Given the description of an element on the screen output the (x, y) to click on. 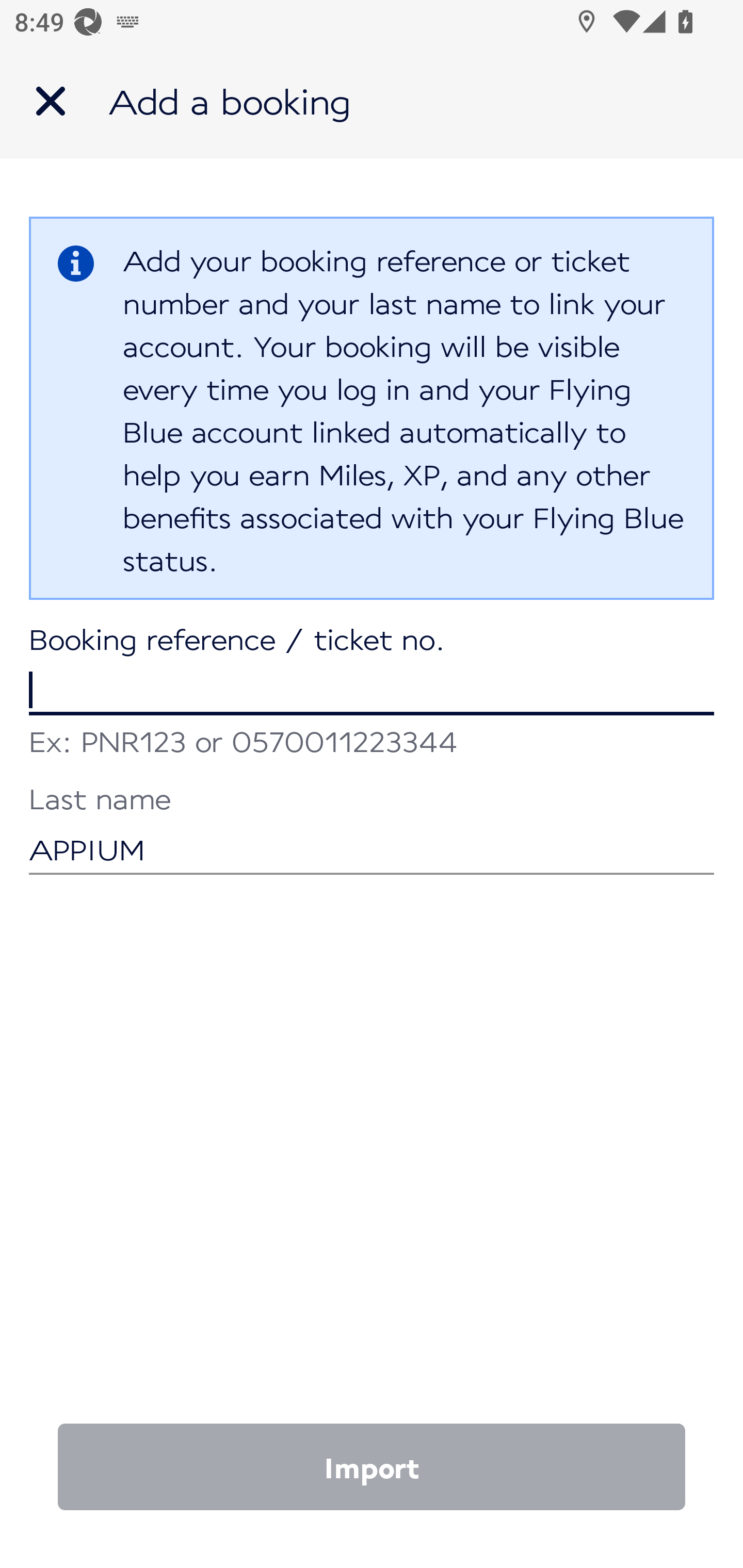
Booking reference / ticket no. (371, 671)
APPIUM (371, 831)
Import (371, 1466)
